Given the description of an element on the screen output the (x, y) to click on. 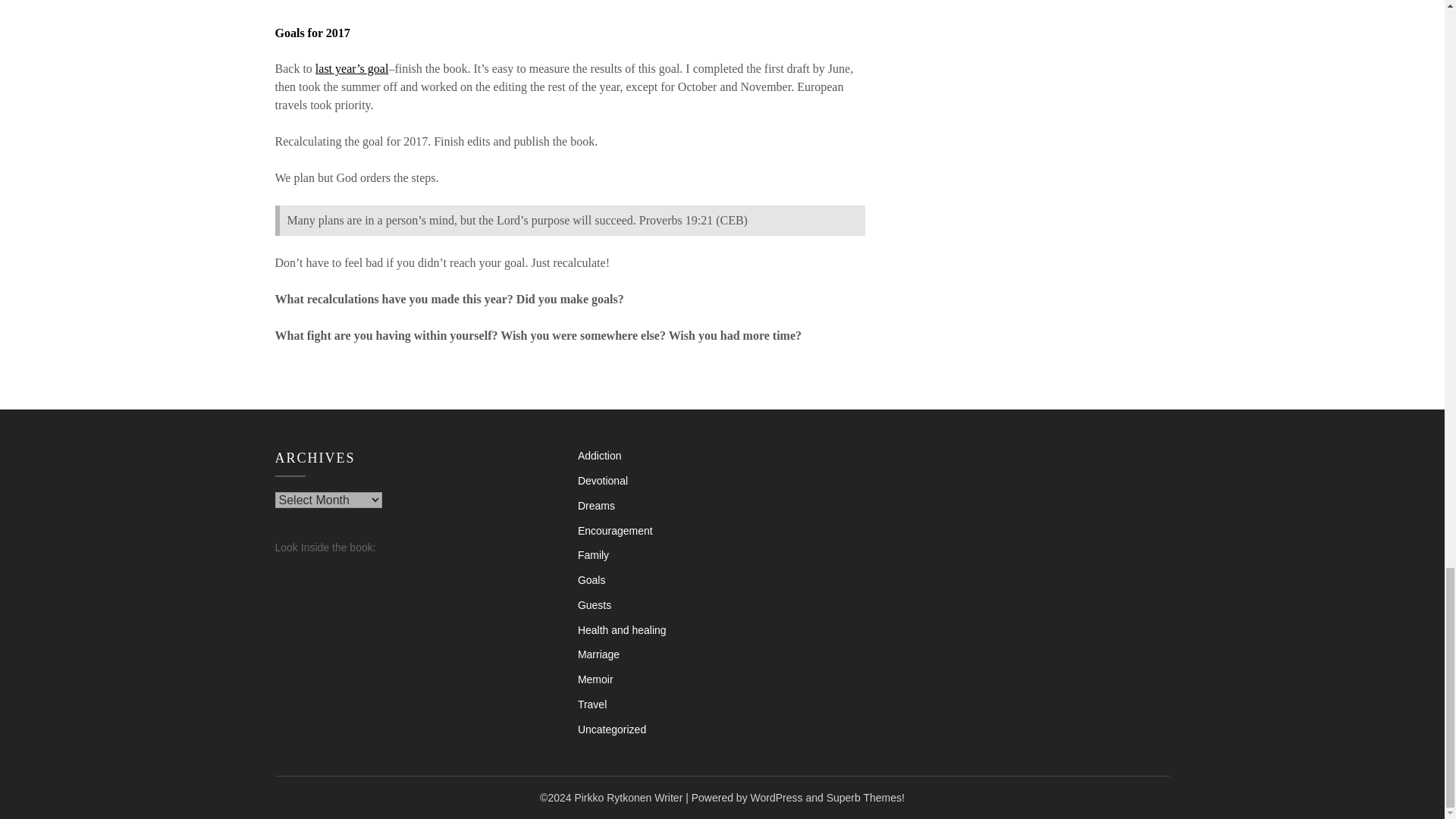
Addiction (599, 455)
Goals (591, 580)
Encouragement (615, 530)
Dreams (596, 505)
Guests (594, 604)
Family (593, 554)
Devotional (602, 480)
